Given the description of an element on the screen output the (x, y) to click on. 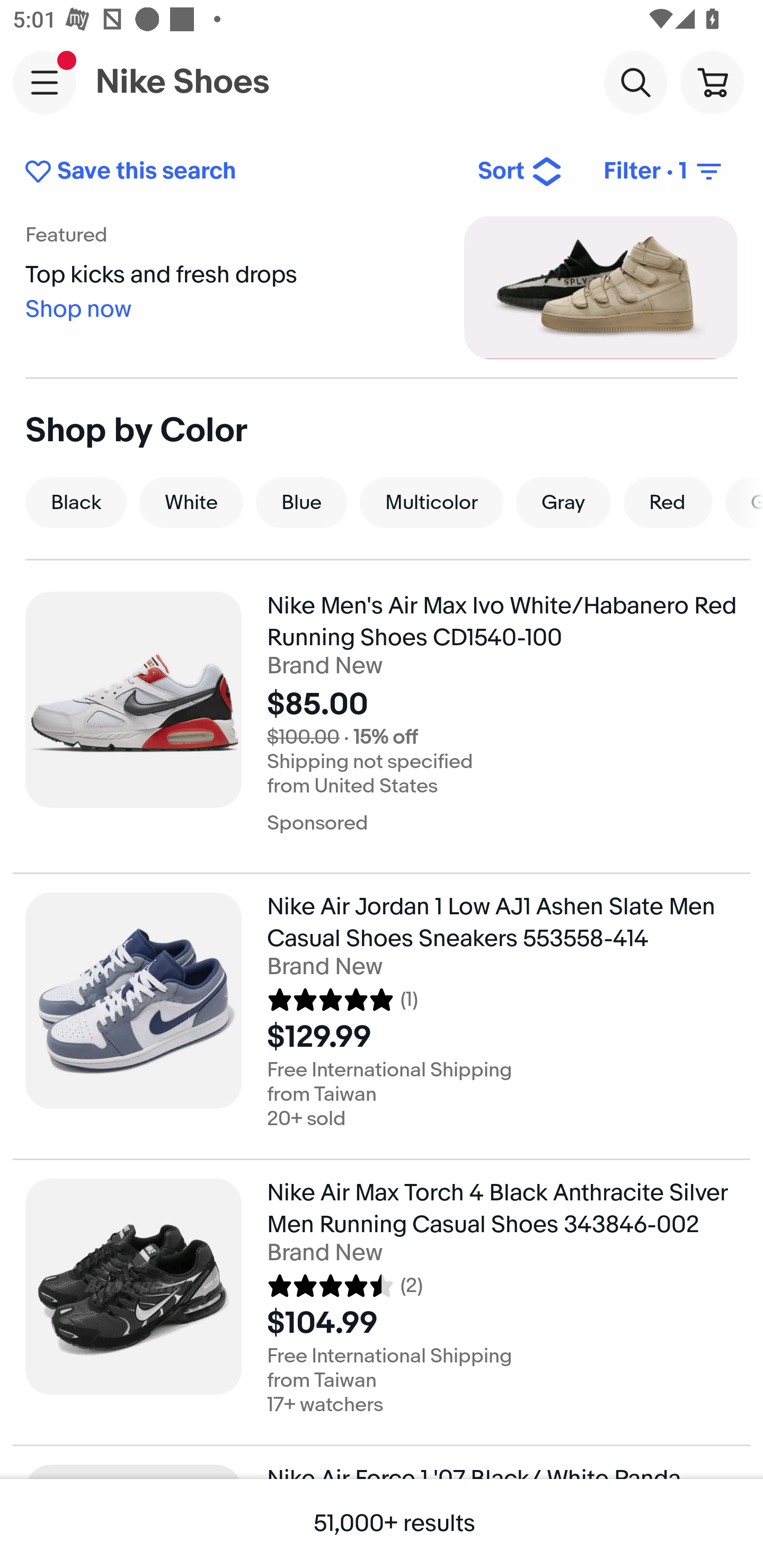
Main navigation, open (44, 82)
Search (635, 81)
Cart button shopping cart (711, 81)
Save this search (237, 171)
Sort (520, 171)
Filter • 1 Filter (1 applied) (663, 171)
Featured Top kicks and fresh drops Shop now (381, 287)
Black Black, Color (75, 502)
White White, Color (191, 502)
Blue Blue, Color (301, 502)
Multicolor Multicolor, Color (431, 502)
Gray Gray, Color (563, 502)
Red Red, Color (667, 502)
